Given the description of an element on the screen output the (x, y) to click on. 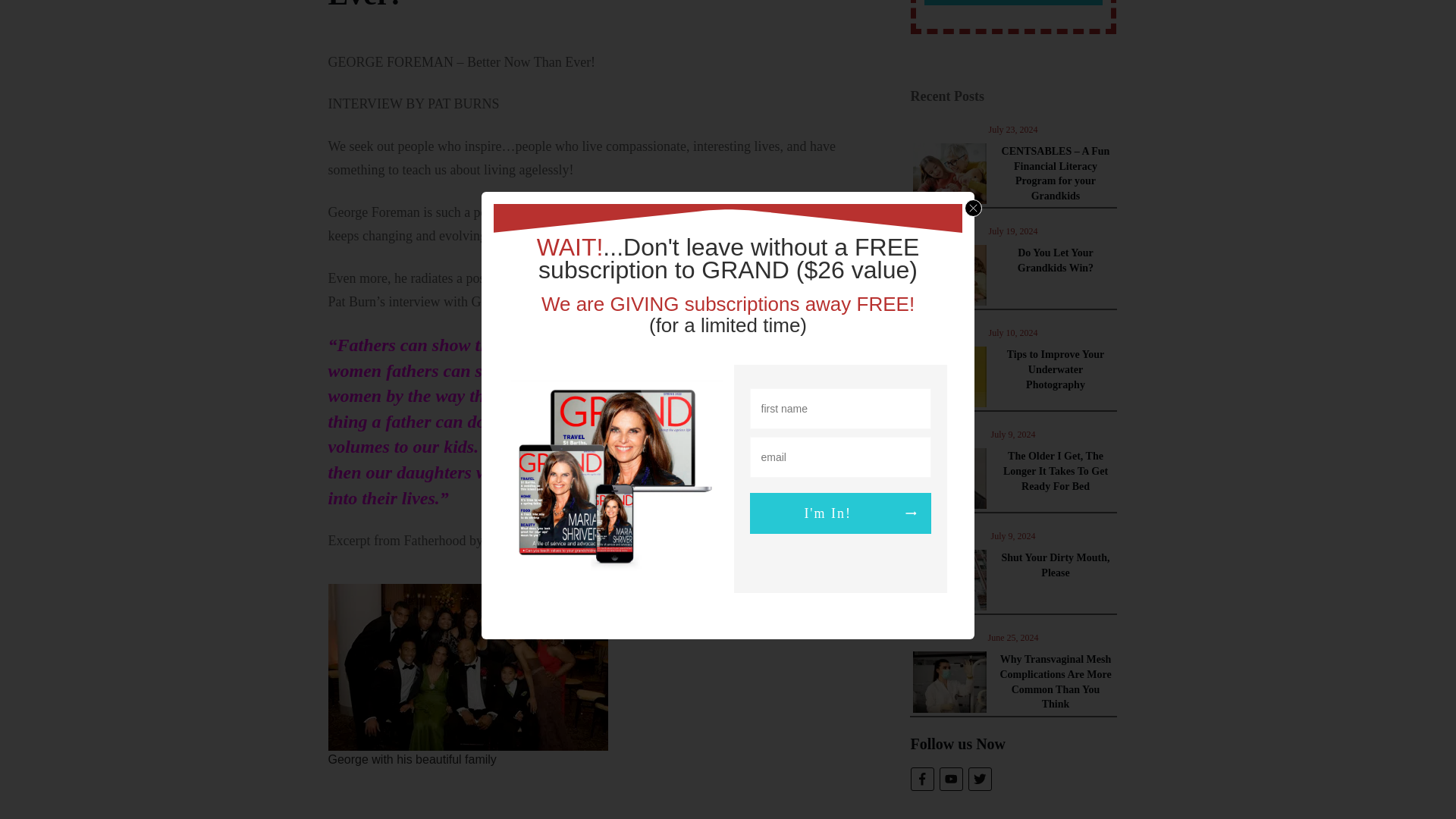
GEORGE FOREMAN: Better Than Ever! (563, 5)
